Given the description of an element on the screen output the (x, y) to click on. 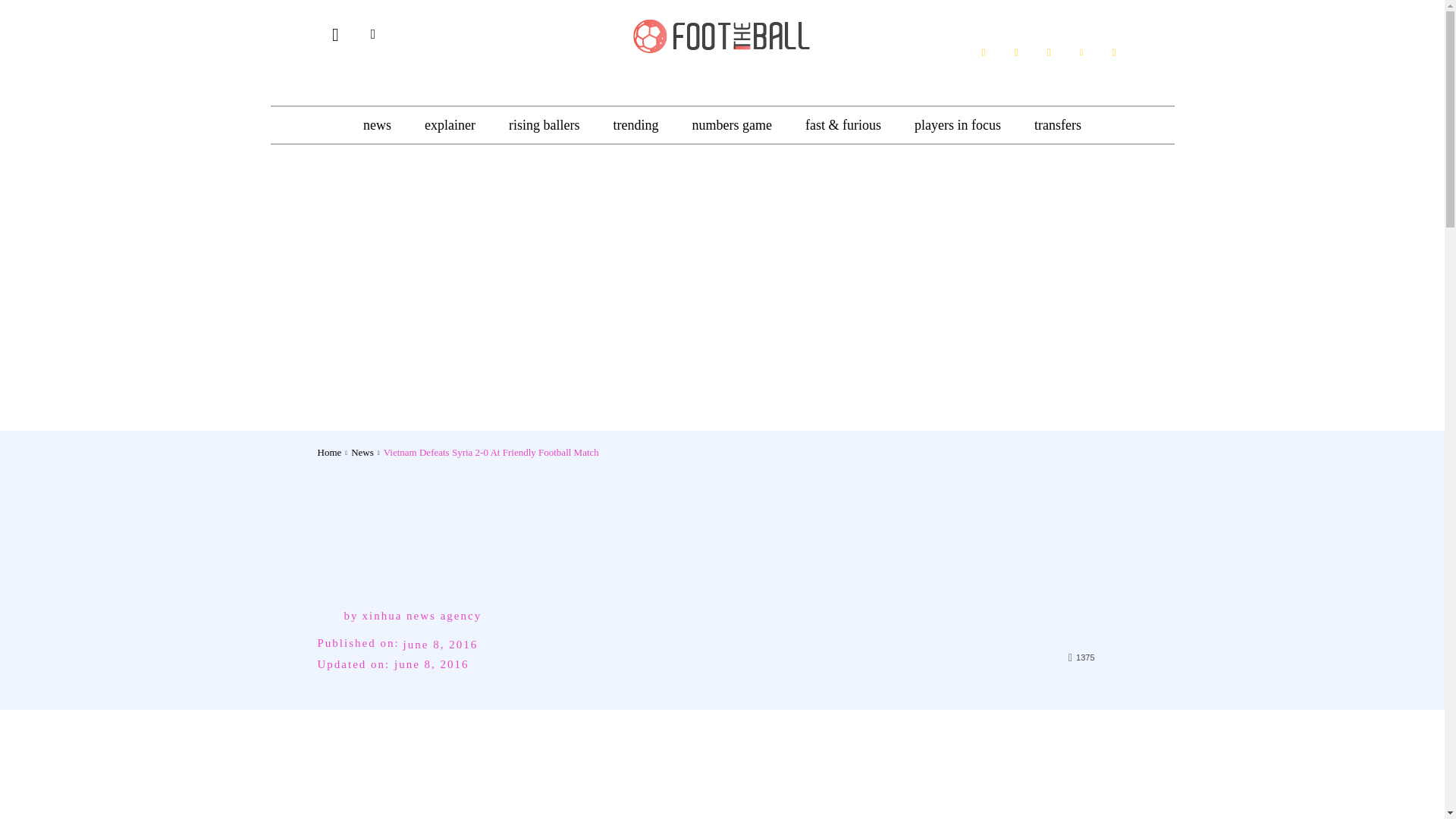
Youtube (1113, 52)
View all posts in News (362, 451)
Xinhua News Agency (330, 614)
Foottheball (721, 34)
Twitter (1080, 52)
Facebook (982, 52)
Instagram (1048, 52)
Flipboard (1016, 52)
